Given the description of an element on the screen output the (x, y) to click on. 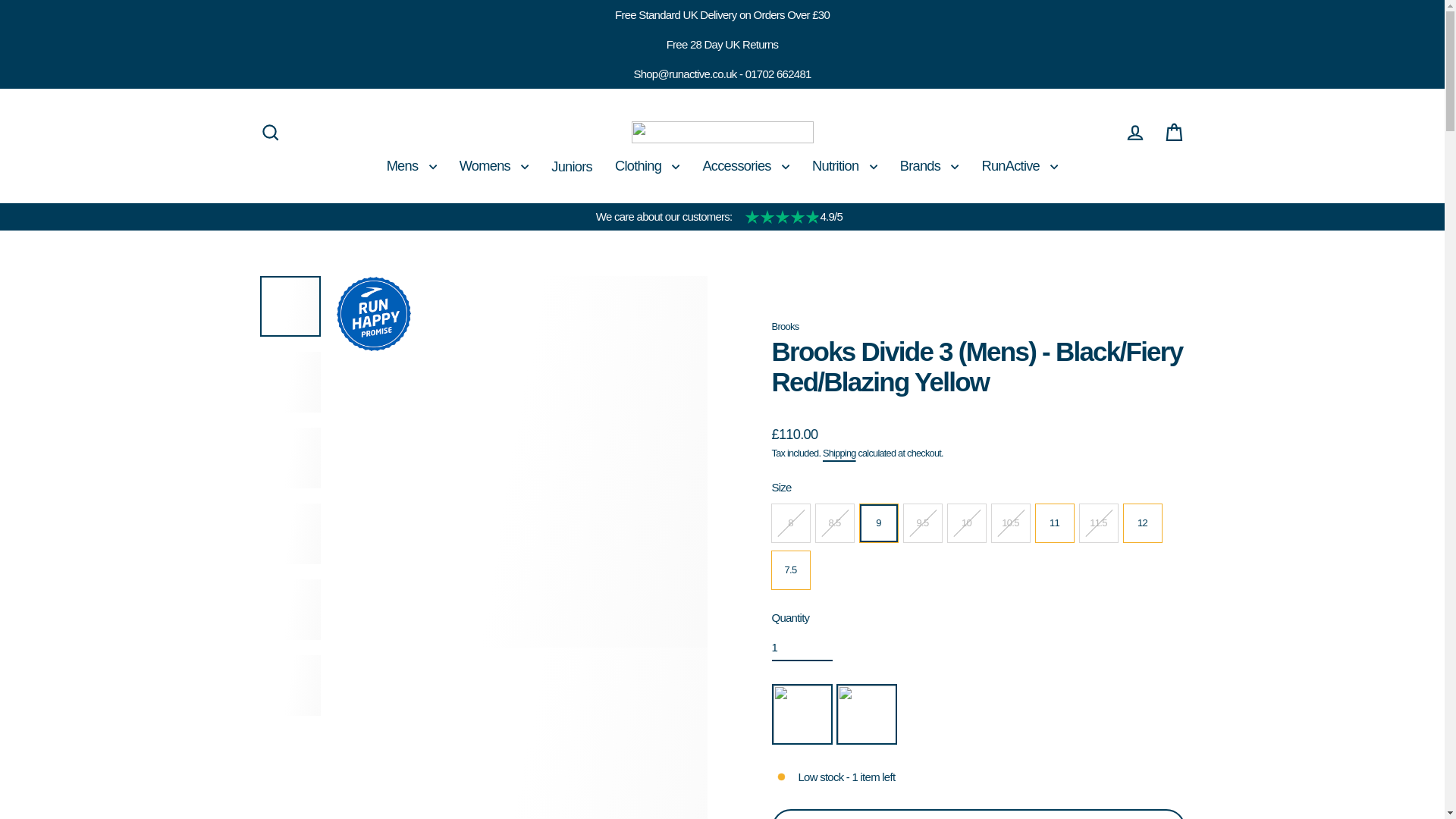
1 (801, 647)
